Given the description of an element on the screen output the (x, y) to click on. 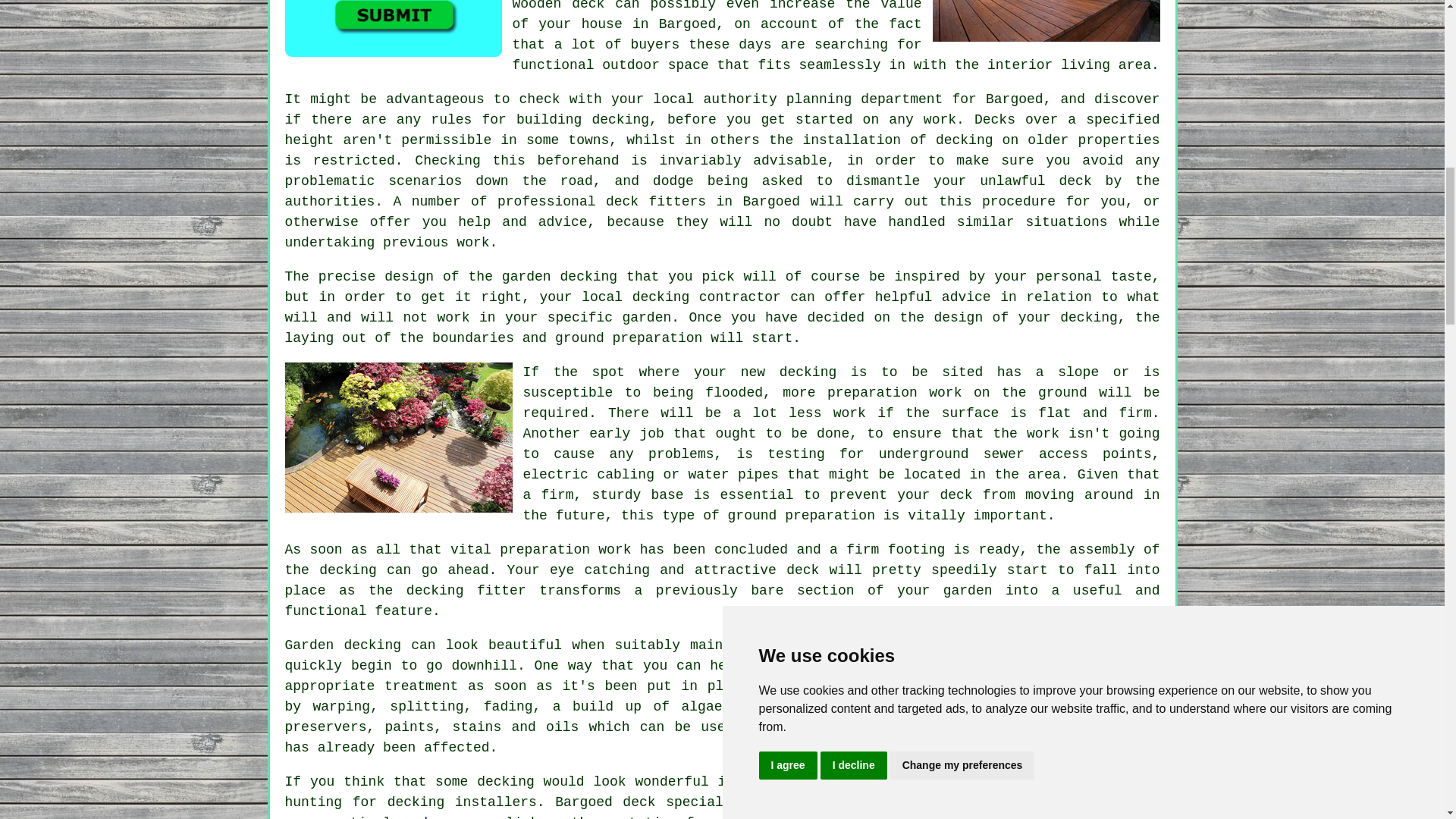
Decking Installers in Bargoed Wales (398, 437)
Bargoed Decking Fitter Quotes (393, 28)
decking fitter (465, 590)
Garden decking (343, 645)
Bargoed Decking Fitter - Deck Fitters Bargoed (1046, 20)
decking (799, 726)
